Given the description of an element on the screen output the (x, y) to click on. 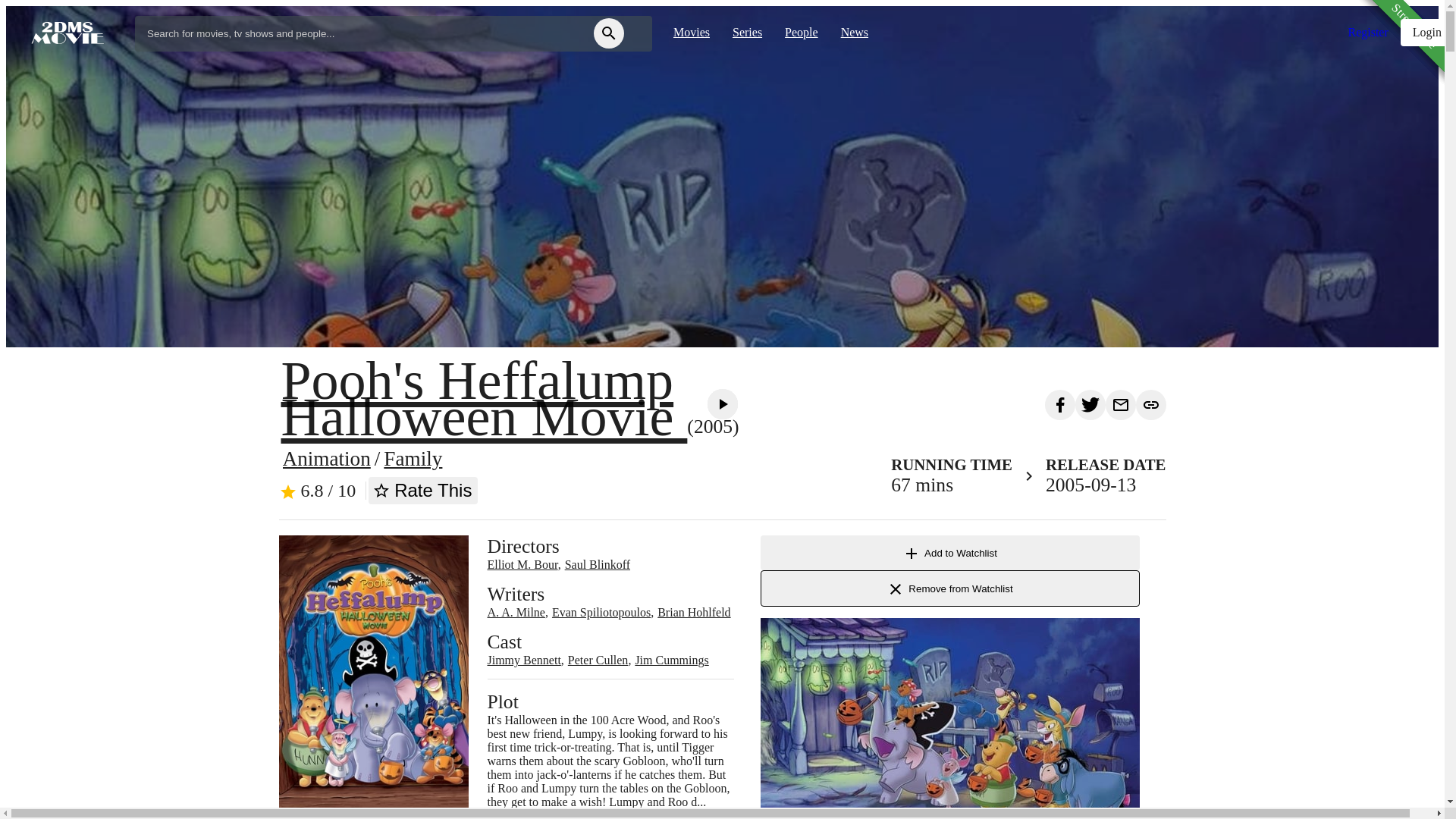
Jimmy Bennett Element type: text (523, 659)
Login Element type: text (1426, 32)
Elliot M. Bour Element type: text (521, 564)
Brian Hohlfeld Element type: text (693, 611)
Movies Element type: text (691, 32)
Peter Cullen Element type: text (597, 659)
Pooh's Heffalump Halloween Movie Element type: text (483, 398)
Animation Element type: text (326, 458)
Saul Blinkoff Element type: text (597, 564)
People Element type: text (801, 32)
Family Element type: text (412, 458)
Add to Watchlist Element type: text (949, 552)
Series Element type: text (747, 32)
A. A. Milne Element type: text (515, 611)
News Element type: text (854, 32)
Jim Cummings Element type: text (671, 659)
Rate This Element type: text (422, 490)
Evan Spiliotopoulos Element type: text (601, 611)
Register Element type: text (1367, 32)
Remove from Watchlist Element type: text (949, 588)
